Given the description of an element on the screen output the (x, y) to click on. 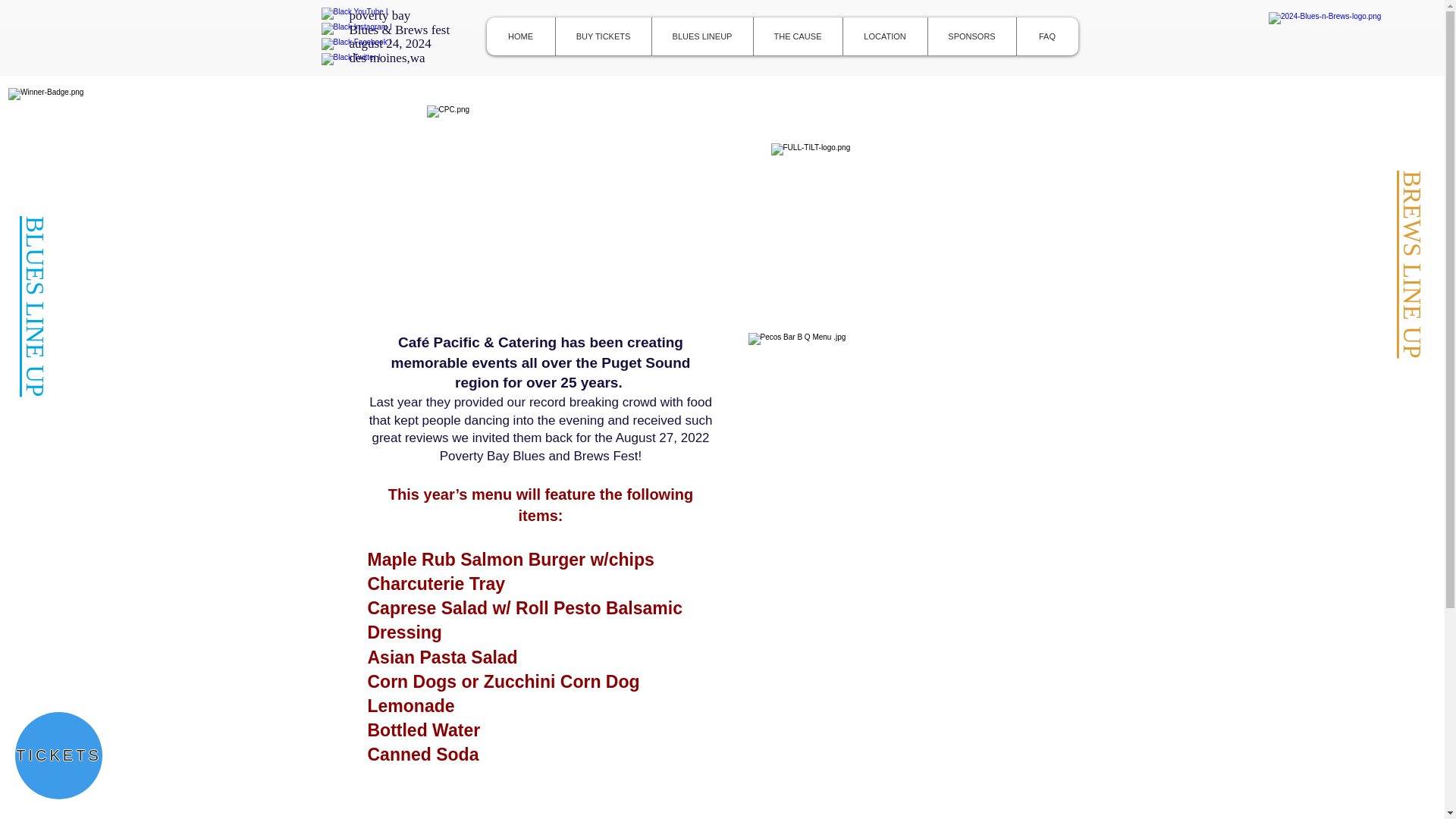
FAQ (1047, 36)
BLUES LINEUP (701, 36)
SPONSORS (970, 36)
TICKETS (57, 755)
THE CAUSE (796, 36)
BUY TICKETS (602, 36)
LOCATION (883, 36)
HOME (520, 36)
